Given the description of an element on the screen output the (x, y) to click on. 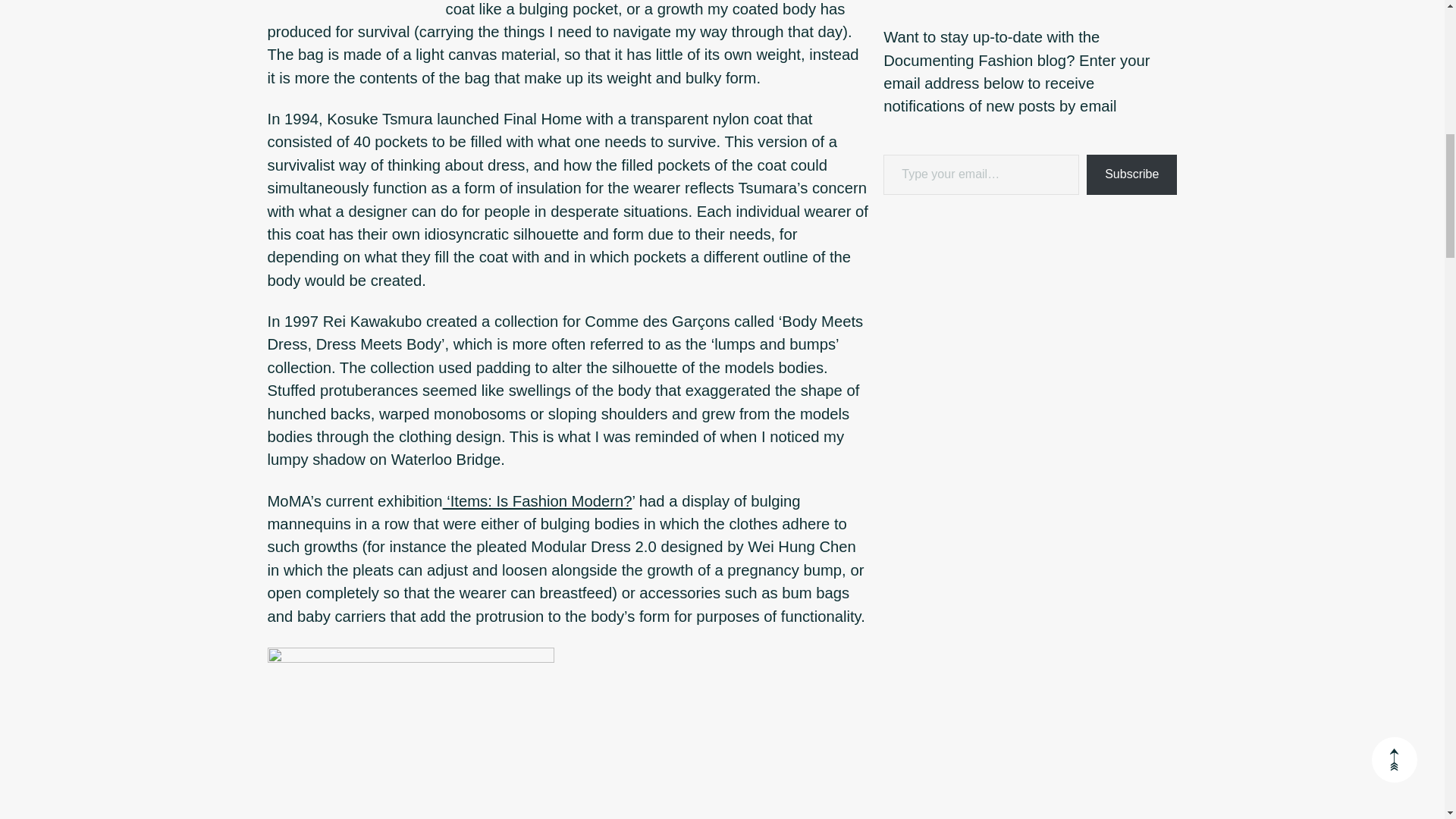
Subscribe (1131, 174)
Please fill in this field. (980, 174)
